Given the description of an element on the screen output the (x, y) to click on. 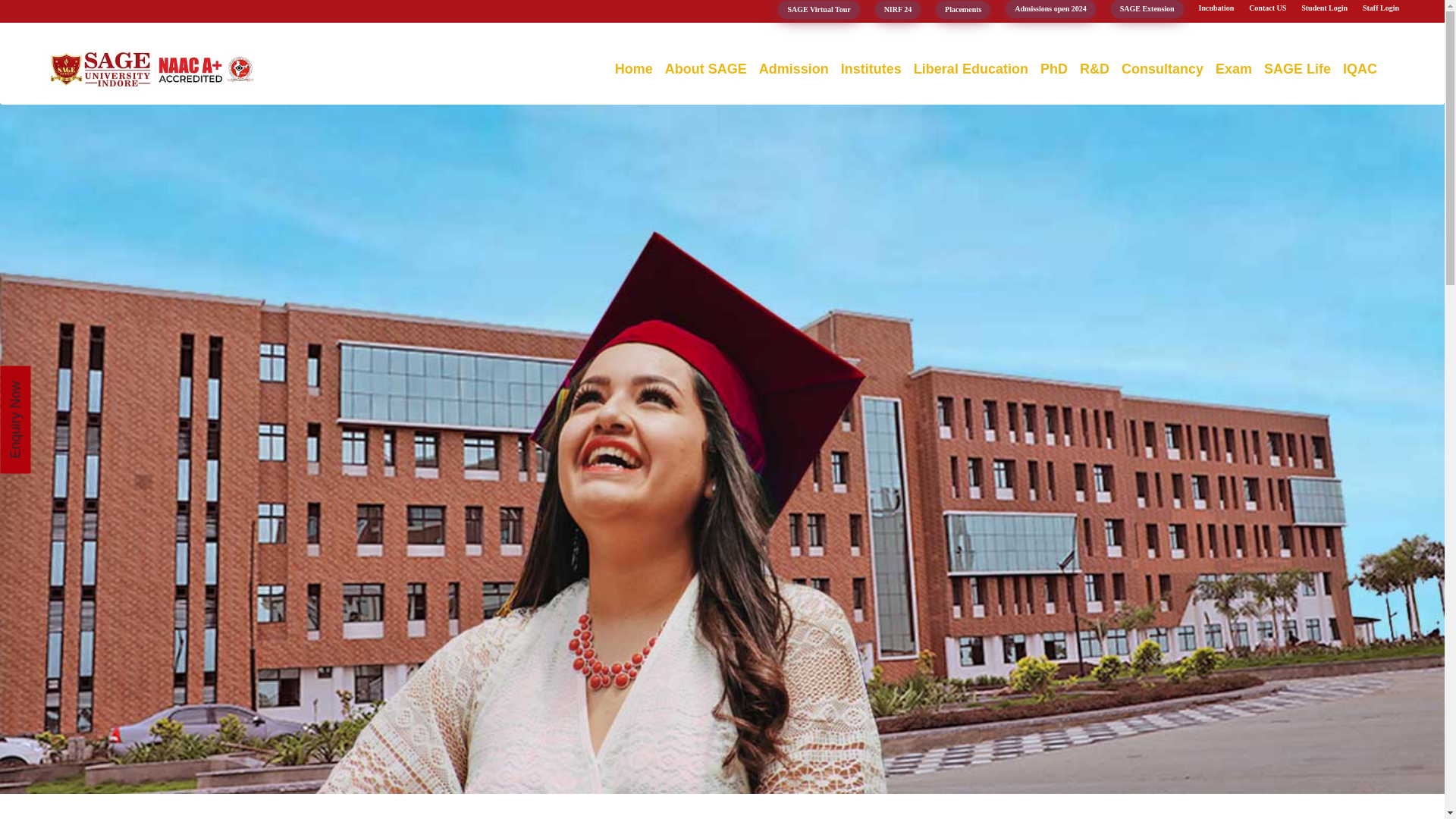
Incubation (1216, 8)
Enquiry Now (54, 380)
Placements (963, 9)
Home (633, 68)
Contact US (1267, 8)
About SAGE (705, 68)
SAGE Virtual Tour (818, 9)
Institutes (870, 68)
Student Login (1324, 8)
NIRF 24 (898, 9)
SAGE Extension (1146, 9)
Admissions open 2024 (1050, 9)
Admission (793, 68)
Staff Login (1380, 8)
